Given the description of an element on the screen output the (x, y) to click on. 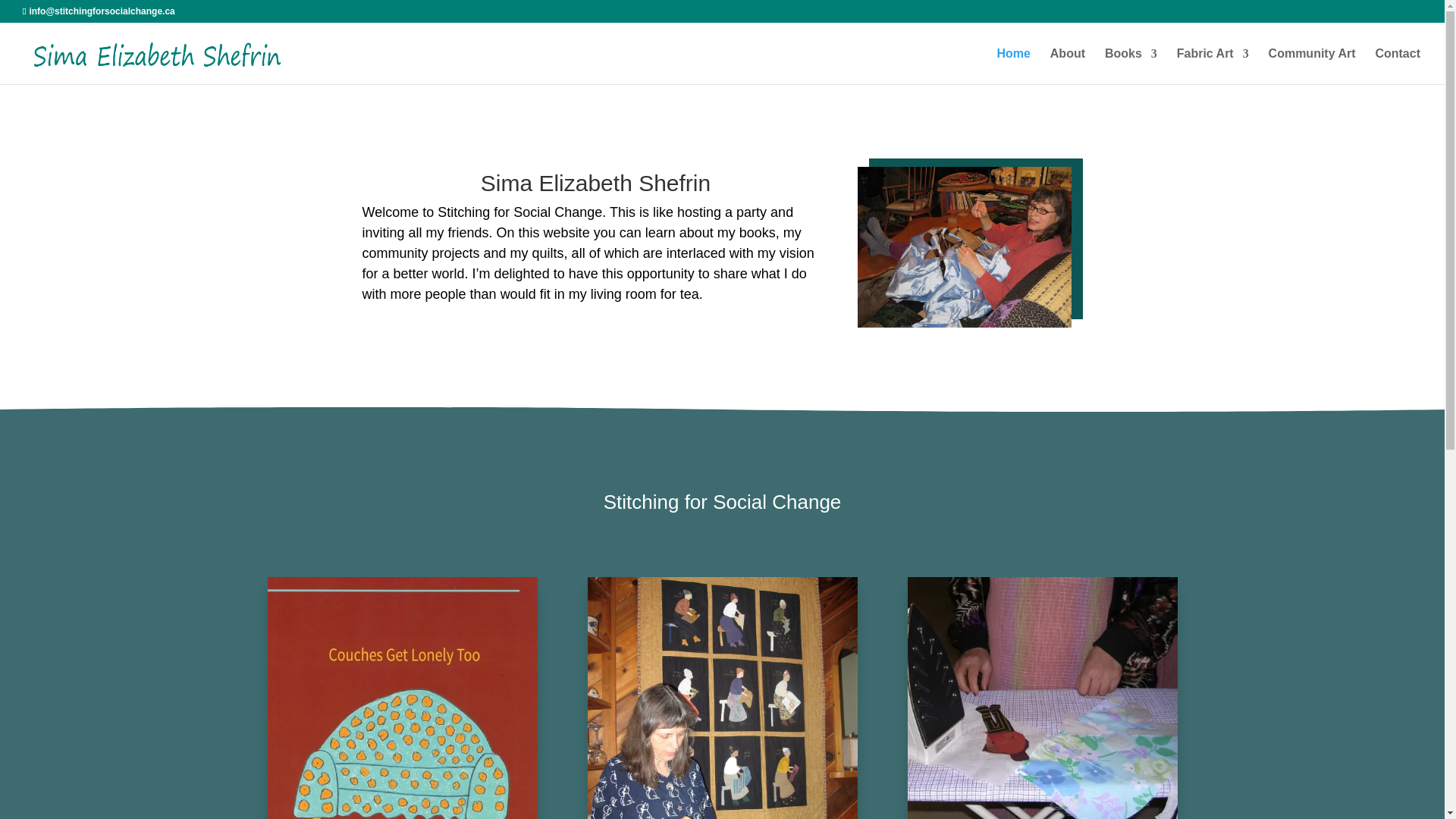
Books (1131, 66)
about Sima Elizabeth Shefrin (964, 246)
Contact (1397, 66)
Community Art (1041, 698)
Fabric Art (1212, 66)
About (1066, 66)
Home (1012, 66)
Couches get lonely too (401, 698)
Community Art (1311, 66)
Fabric Art (721, 698)
